Given the description of an element on the screen output the (x, y) to click on. 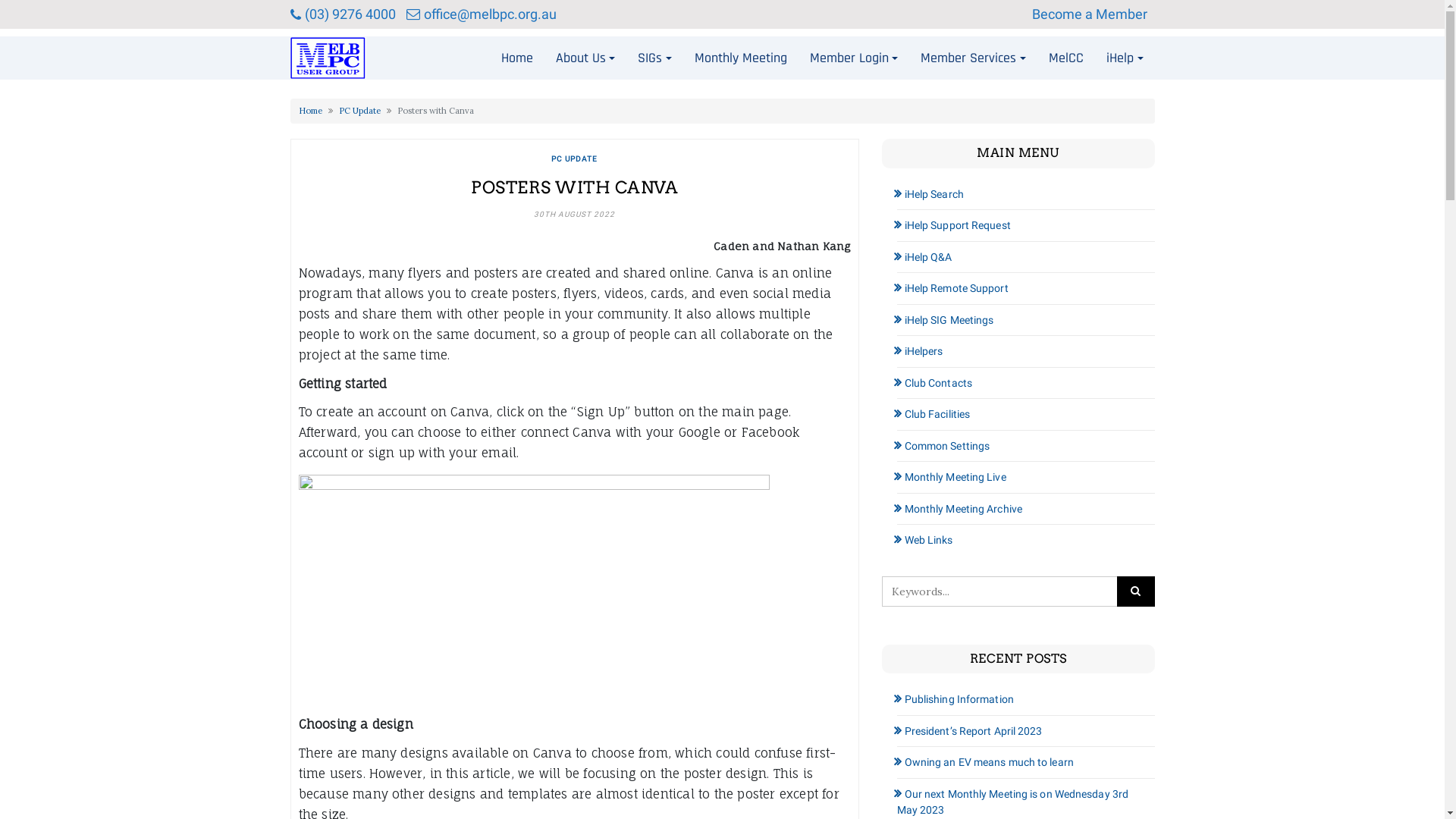
SIGs Element type: text (654, 57)
(03) 9276 4000 Element type: text (342, 13)
Monthly Meeting Element type: text (740, 57)
office@melbpc.org.au Element type: text (481, 13)
Member Services Element type: text (973, 57)
PC UPDATE Element type: text (574, 158)
Home Element type: text (310, 110)
Club Facilities Element type: text (932, 413)
About Us Element type: text (585, 57)
iHelp SIG Meetings Element type: text (944, 319)
iHelp Element type: text (1124, 57)
Become a Member Element type: text (1092, 13)
Web Links Element type: text (924, 539)
Owning an EV means much to learn Element type: text (984, 762)
iHelp Support Request Element type: text (953, 225)
Monthly Meeting Live Element type: text (950, 476)
MelCC Element type: text (1066, 57)
Publishing Information Element type: text (954, 699)
Home Element type: text (516, 57)
iHelp Q&A Element type: text (923, 257)
PC Update Element type: text (359, 110)
Monthly Meeting Archive Element type: text (958, 508)
iHelp Remote Support Element type: text (951, 288)
iHelpers Element type: text (919, 351)
Club Contacts Element type: text (933, 382)
Our next Monthly Meeting is on Wednesday 3rd May 2023 Element type: text (1012, 801)
Common Settings Element type: text (942, 445)
iHelp Search Element type: text (929, 194)
Member Login Element type: text (854, 57)
